Given the description of an element on the screen output the (x, y) to click on. 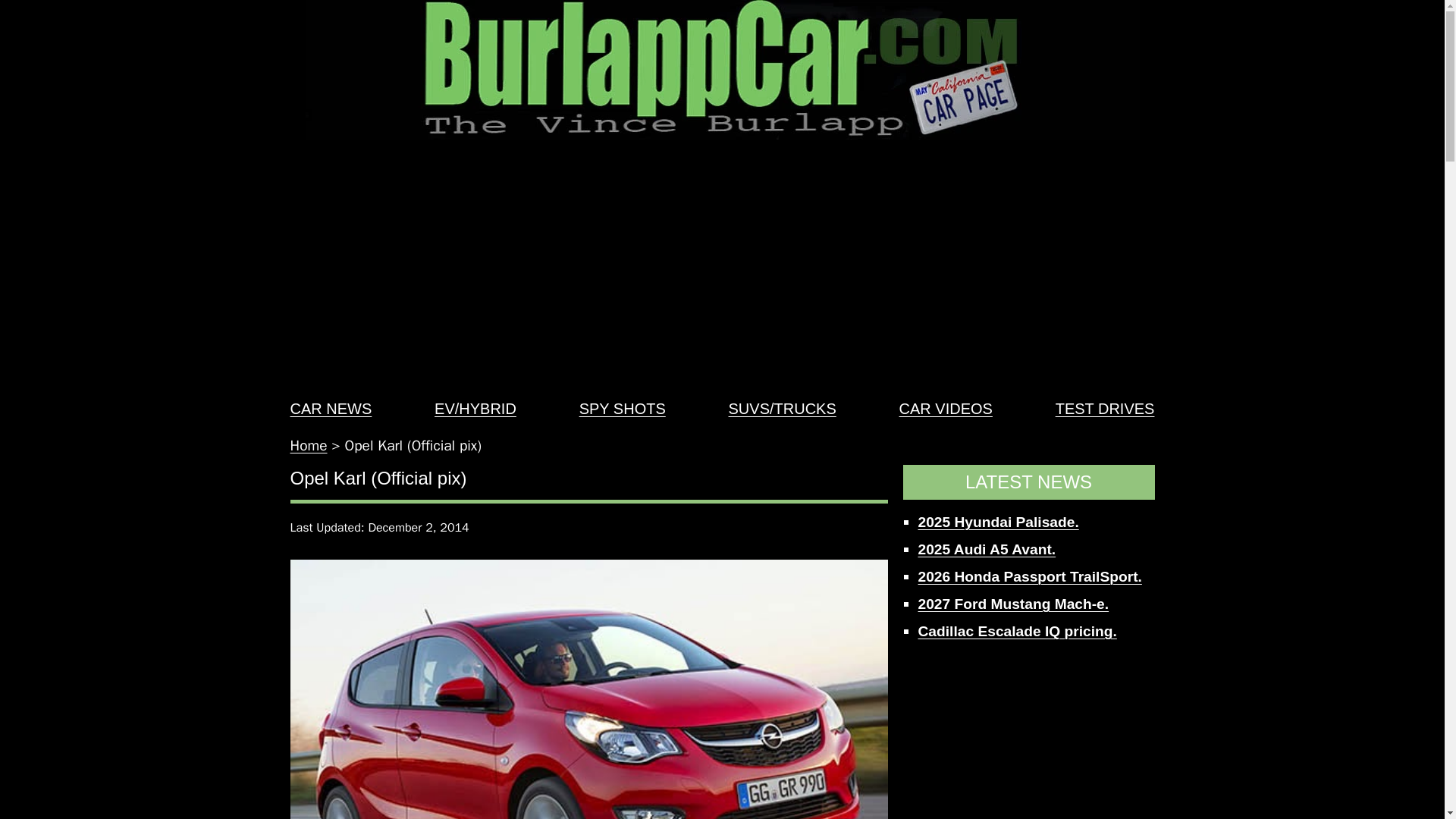
2027 Ford Mustang Mach-e. (1012, 603)
2025 Audi A5 Avant. (986, 549)
CAR NEWS (330, 408)
2026 Honda Passport TrailSport. (1029, 576)
Advertisement (1028, 739)
2025 Hyundai Palisade. (997, 521)
2026 Honda Passport TrailSport. (1029, 576)
Home (307, 445)
Cadillac Escalade IQ pricing. (1016, 631)
2025 Audi A5 Avant. (986, 549)
Cadillac Escalade IQ pricing. (1016, 631)
SPY SHOTS (622, 408)
2027 Ford Mustang Mach-e. (1012, 603)
2025 Hyundai Palisade. (997, 521)
TEST DRIVES (1104, 408)
